Given the description of an element on the screen output the (x, y) to click on. 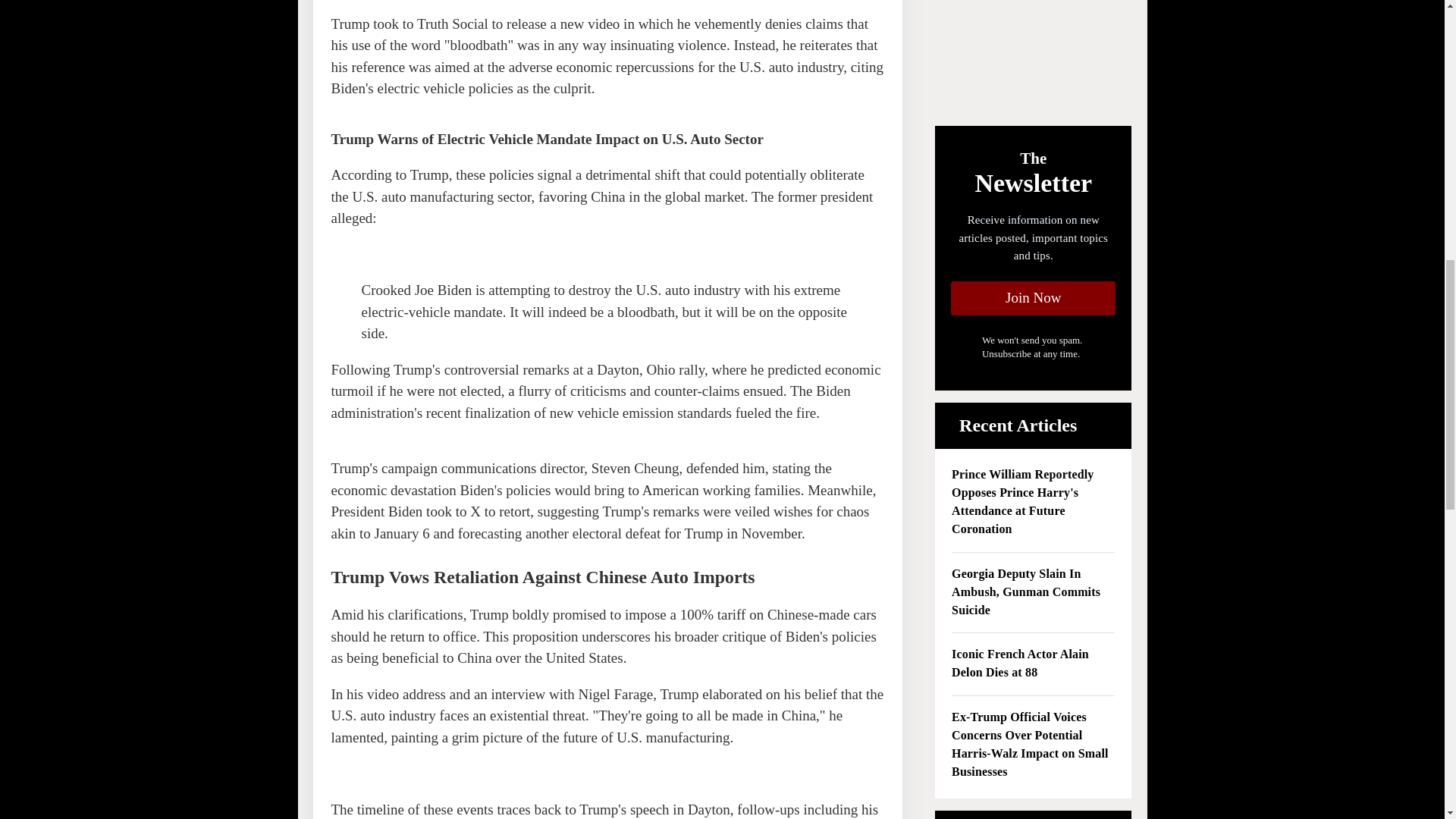
Join Now (1032, 298)
Georgia Deputy Slain In Ambush, Gunman Commits Suicide (1033, 592)
Iconic French Actor Alain Delon Dies at 88 (1033, 664)
Advertisement (1032, 56)
